Given the description of an element on the screen output the (x, y) to click on. 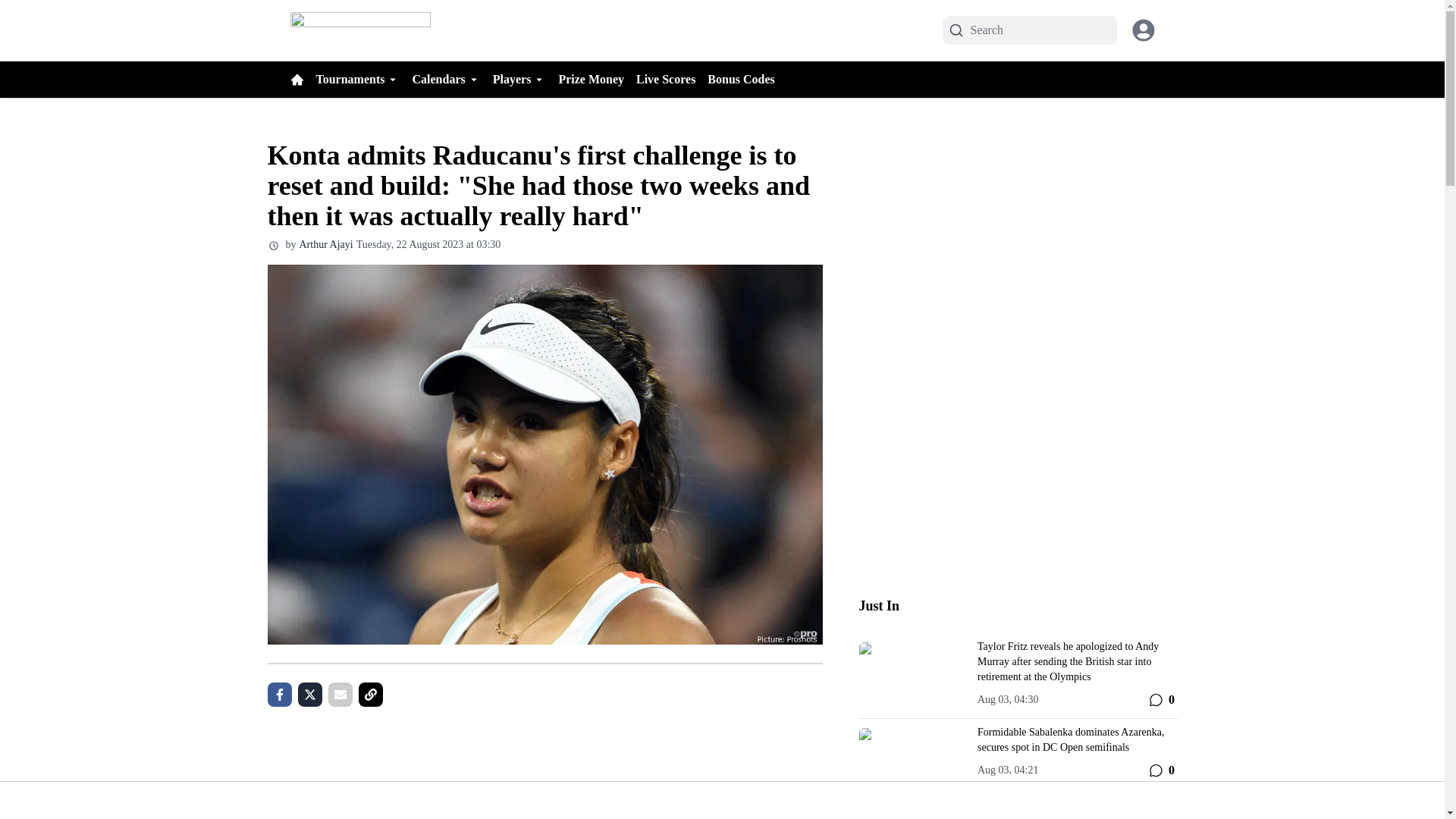
Share with Email (339, 694)
Share on Twitter (309, 694)
website logo (359, 30)
Arthur Ajayi (325, 244)
home (295, 79)
Copy to Clipboard (369, 694)
Share on Facebook (278, 694)
Bonus Codes (746, 78)
0 (1160, 770)
Prize Money (596, 78)
0 (1160, 700)
Live Scores (671, 78)
